Given the description of an element on the screen output the (x, y) to click on. 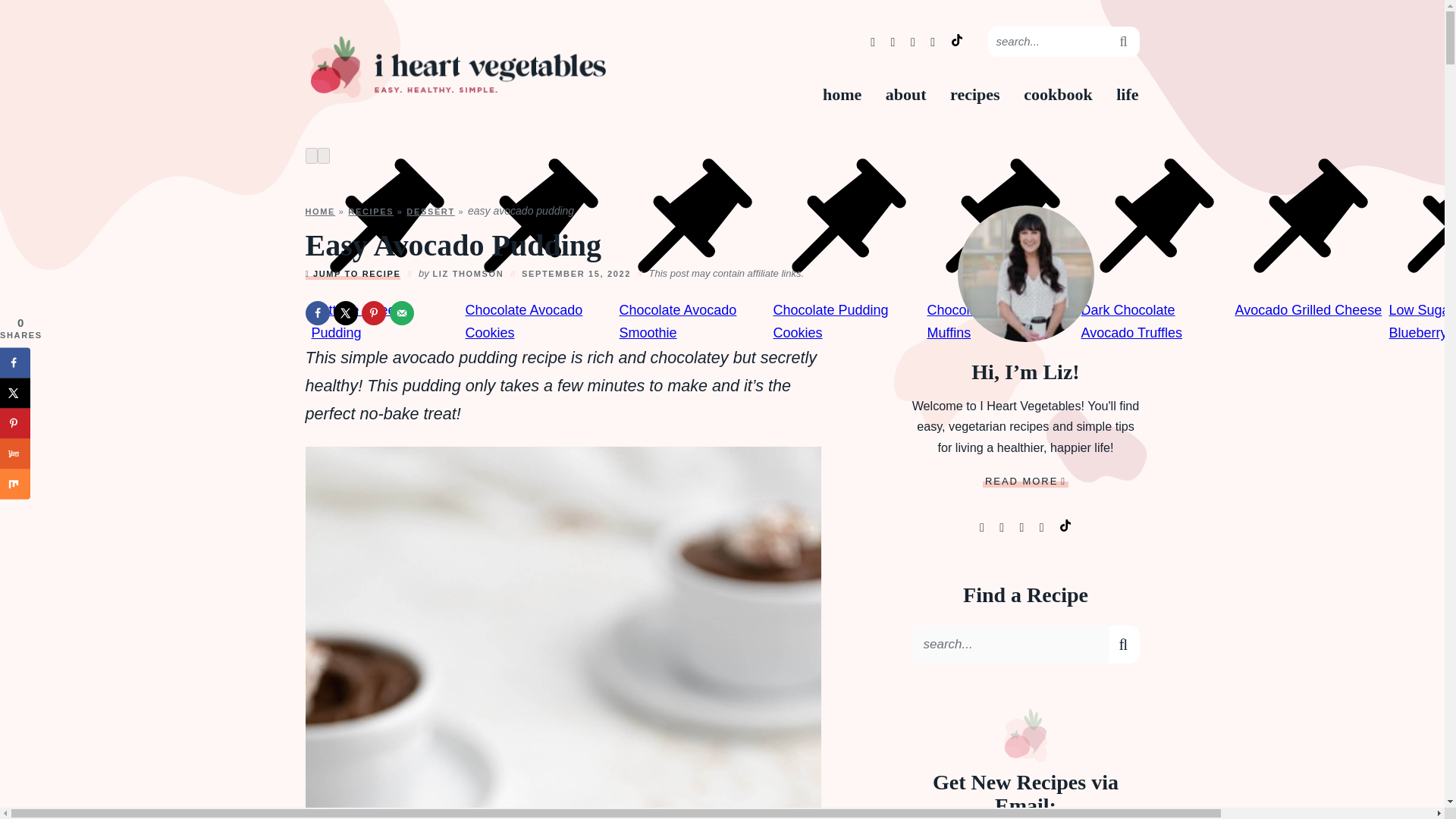
I Heart Vegetables (456, 67)
about (906, 94)
Save to Pinterest (373, 313)
Share on Facebook (316, 313)
TikTok (956, 40)
Share on X (345, 313)
Send over email (401, 313)
recipes (975, 94)
home (841, 94)
TikTok (956, 39)
TikTok (956, 40)
